Given the description of an element on the screen output the (x, y) to click on. 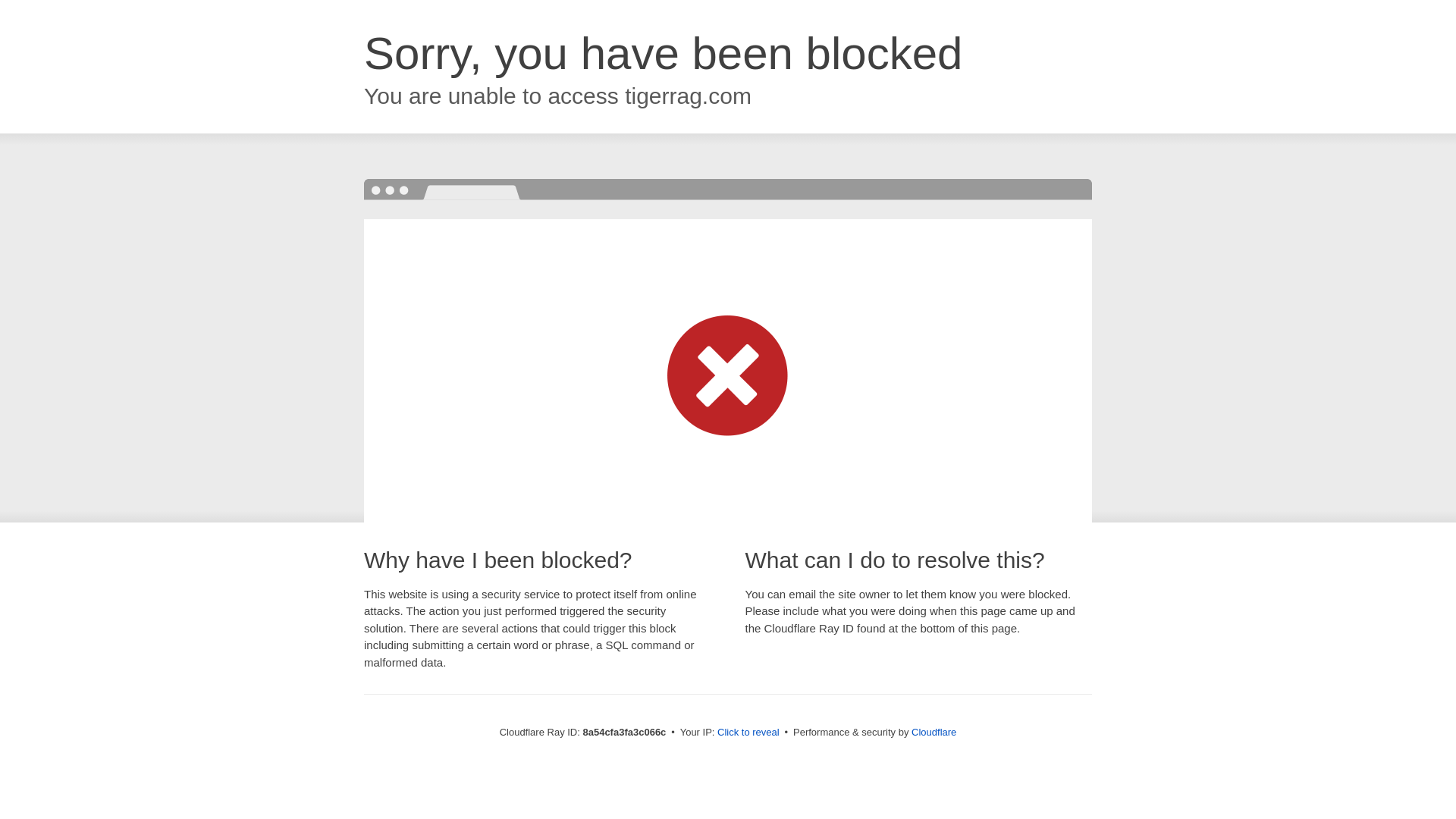
Click to reveal (747, 732)
Cloudflare (933, 731)
